Given the description of an element on the screen output the (x, y) to click on. 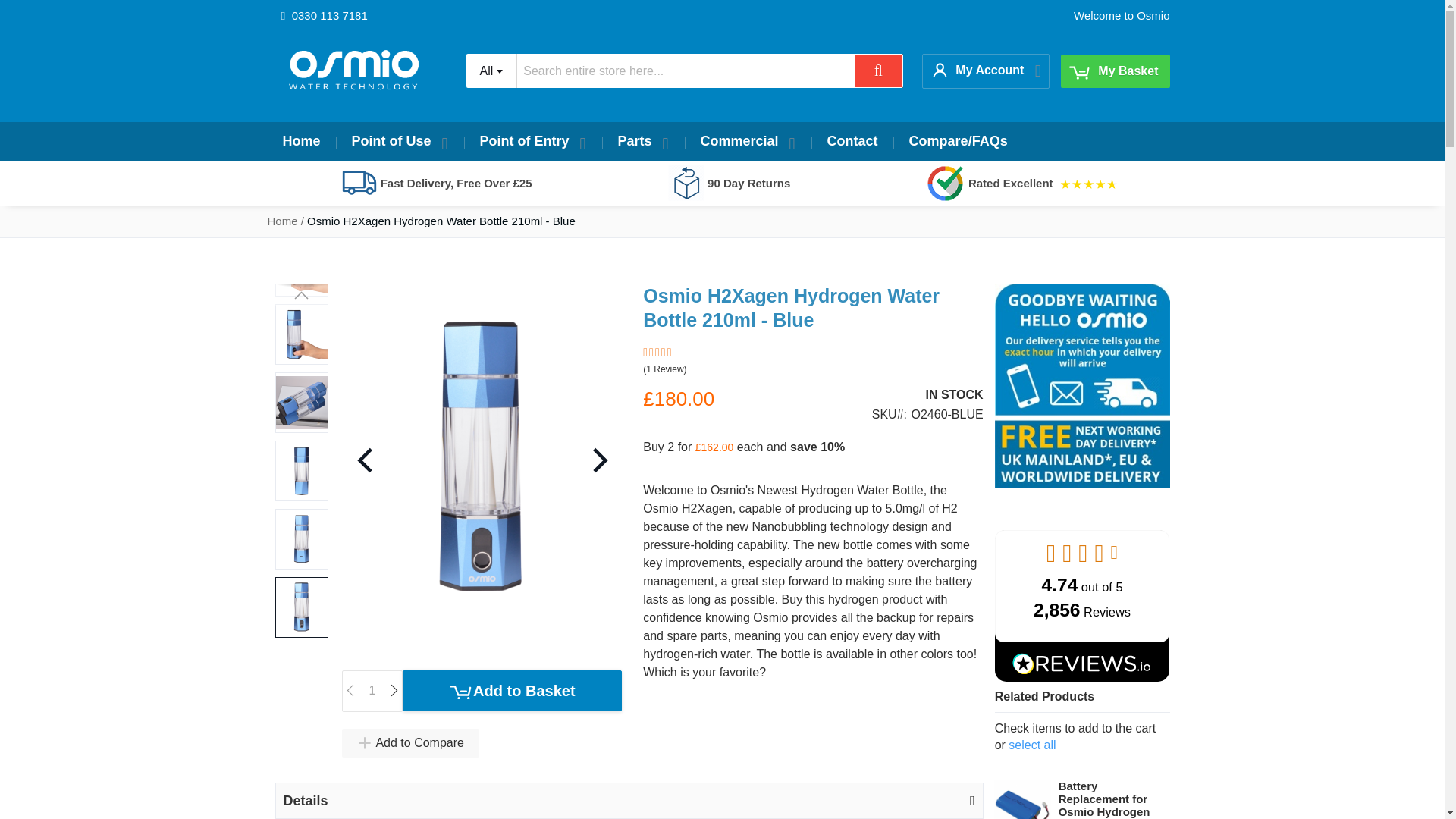
Home (300, 141)
Qty (372, 690)
Point of Entry (533, 141)
5 Star - 1 Review (812, 361)
Delivery Info (1082, 482)
Add to Basket (512, 690)
Osmio Water Filters (352, 71)
All (490, 70)
Search (878, 70)
Availability (928, 395)
My Account (980, 69)
 0330 113 7181 (323, 15)
Point of Use (400, 141)
1 (372, 690)
Go to Home Page (281, 220)
